Given the description of an element on the screen output the (x, y) to click on. 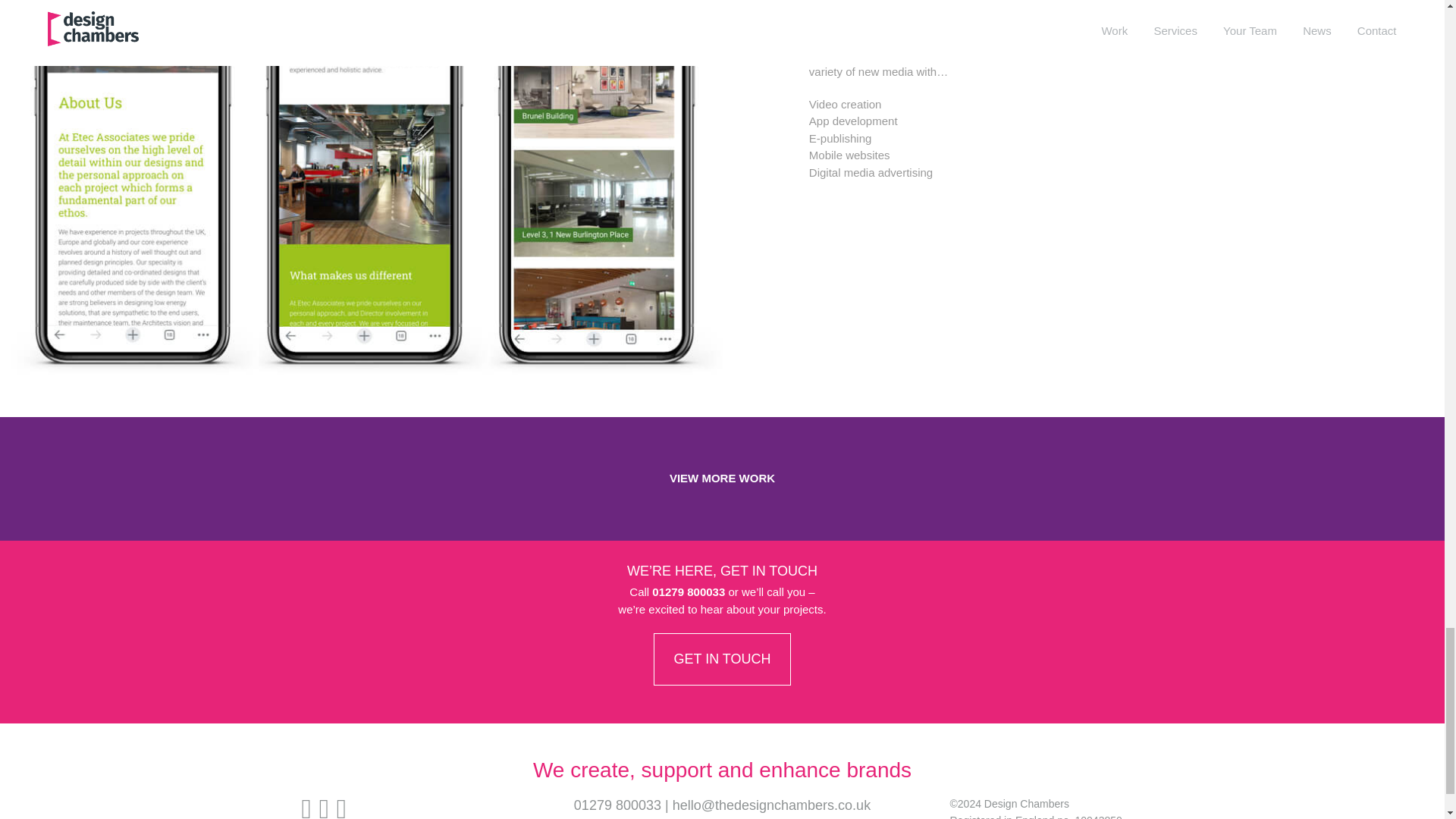
01279 800033 (617, 805)
GET IN TOUCH (721, 659)
01279 800033 (688, 591)
